Given the description of an element on the screen output the (x, y) to click on. 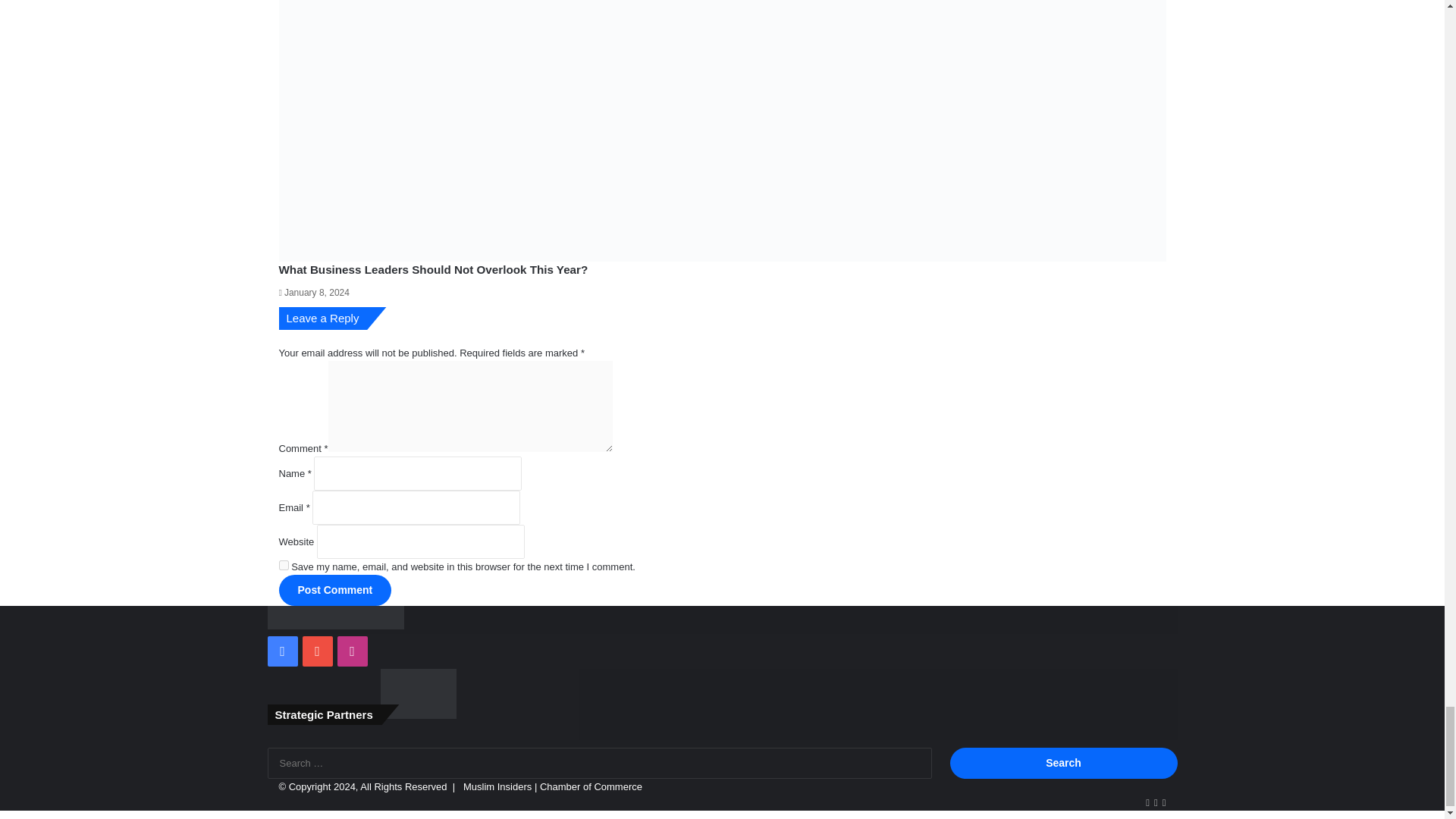
Search (1062, 762)
Search (1062, 762)
Post Comment (335, 590)
yes (283, 565)
